Given the description of an element on the screen output the (x, y) to click on. 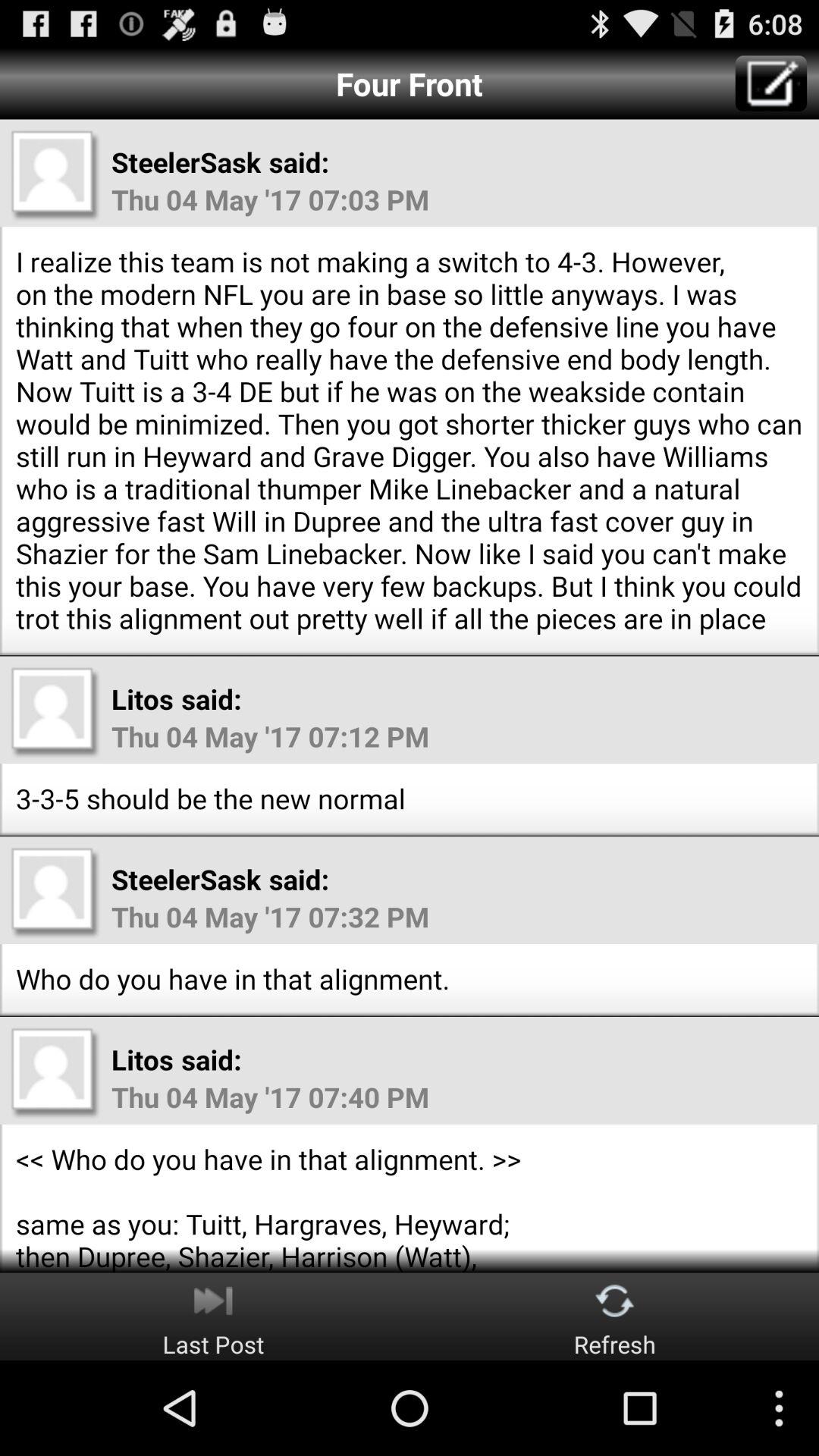
flip to the last post button (213, 1316)
